Given the description of an element on the screen output the (x, y) to click on. 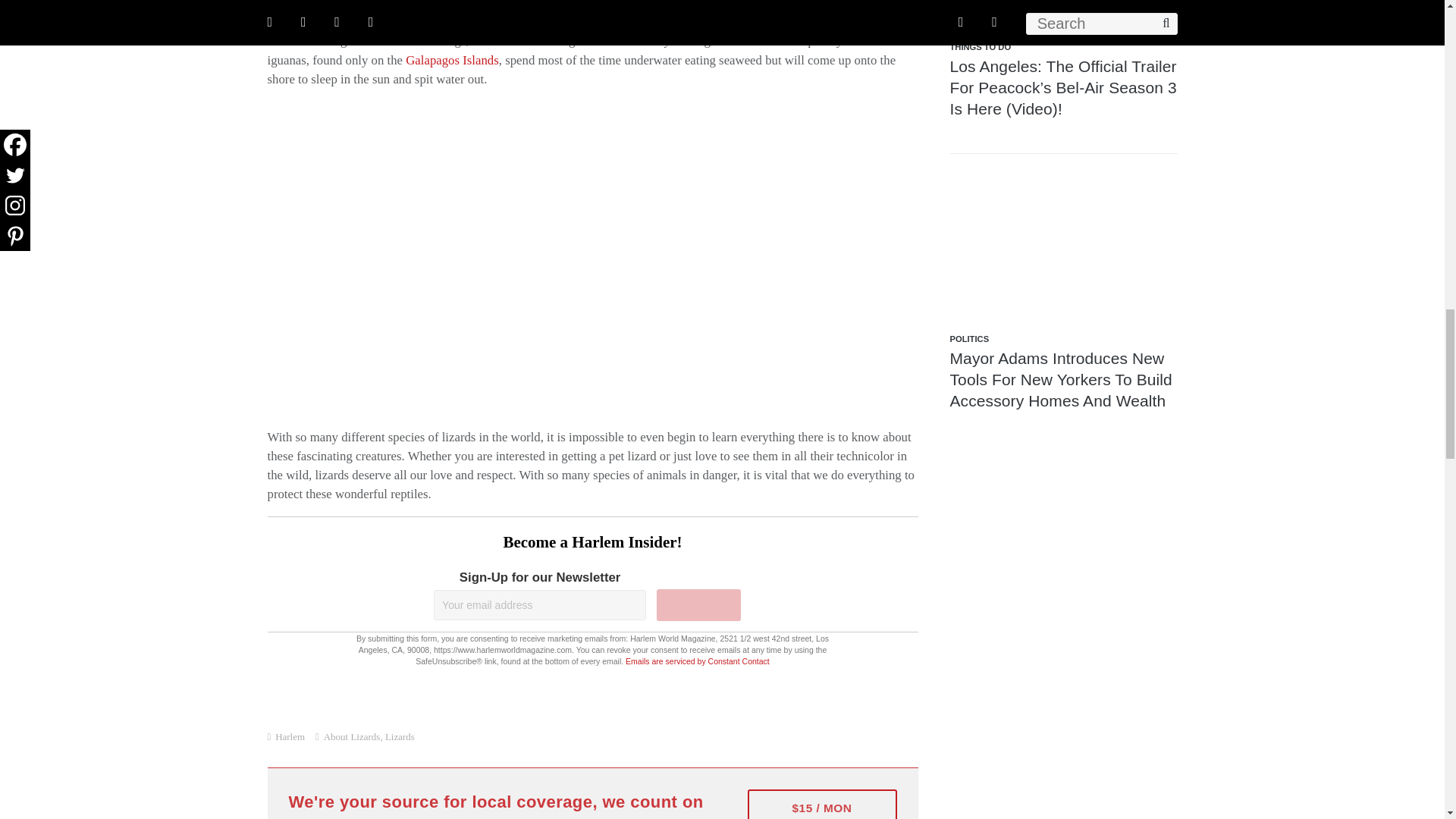
Galapagos Islands (452, 60)
Emails are serviced by Constant Contact (698, 660)
Lizards (399, 736)
Sign up (698, 604)
Sign up (698, 604)
About Lizards (351, 736)
Harlem (289, 736)
